Given the description of an element on the screen output the (x, y) to click on. 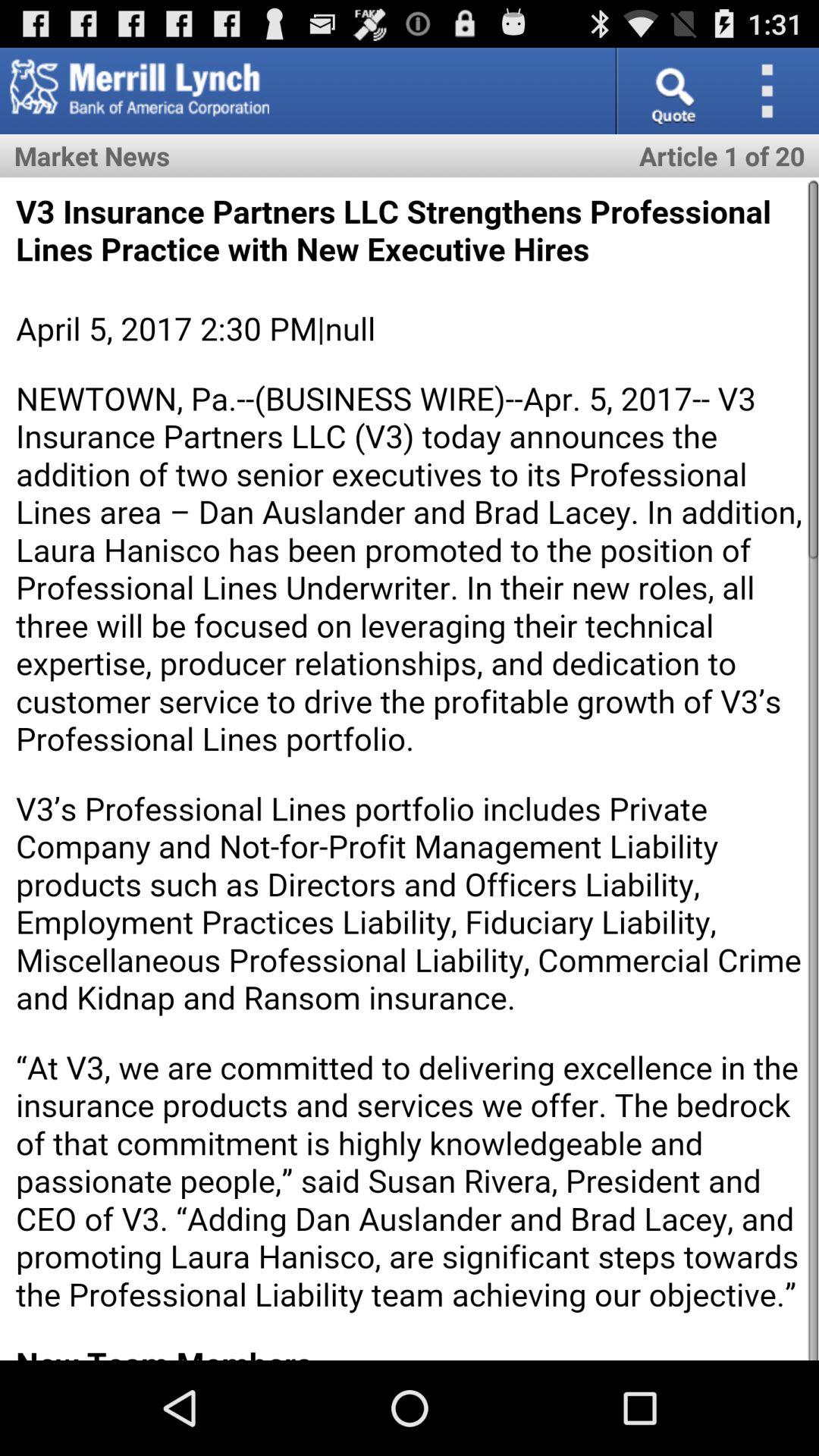
search (671, 90)
